Given the description of an element on the screen output the (x, y) to click on. 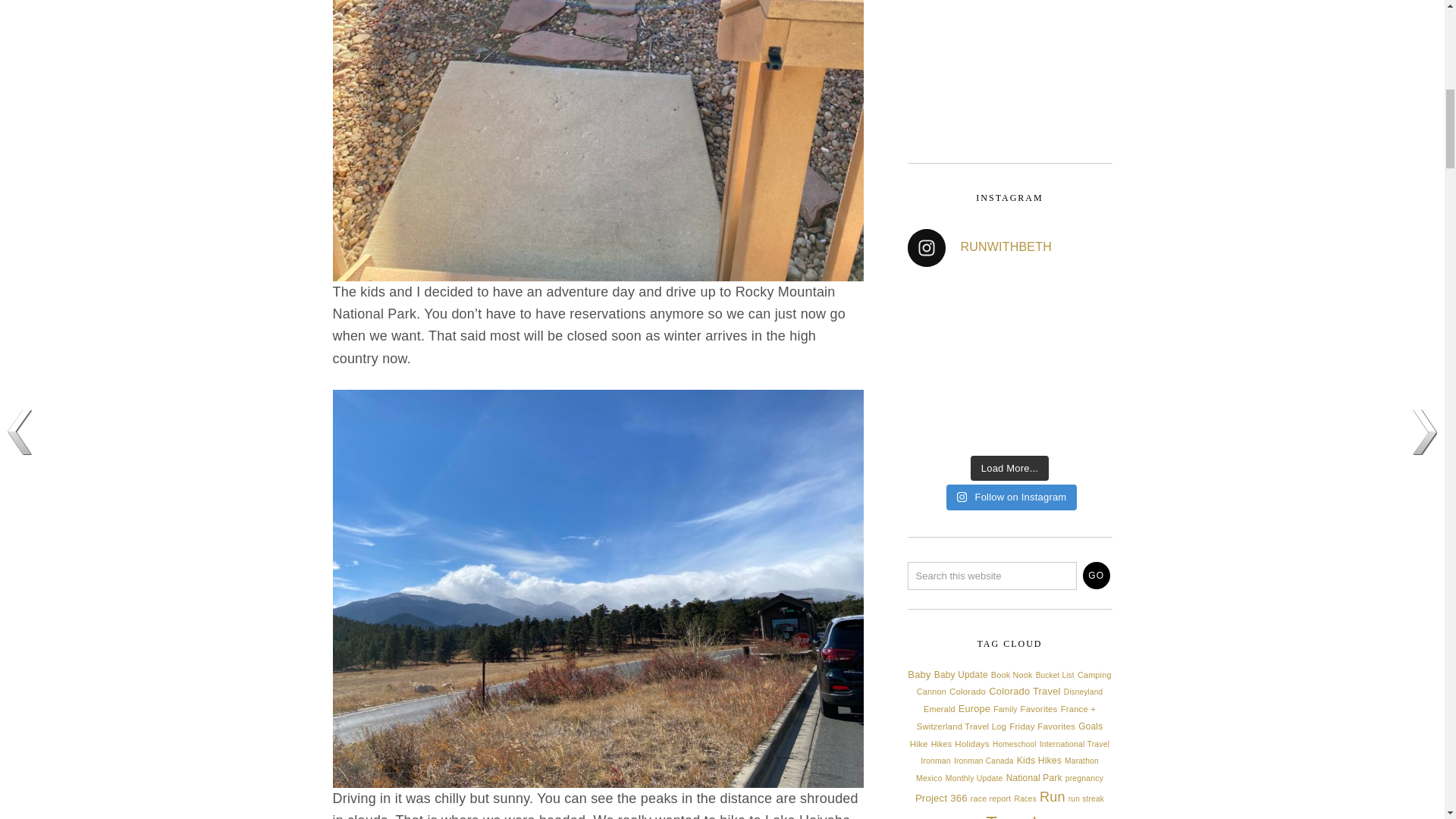
4 topics (1054, 674)
18 topics (918, 674)
GO (1096, 574)
8 topics (1094, 674)
13 topics (961, 674)
GO (1096, 574)
8 topics (931, 691)
8 topics (1011, 674)
RUNWITHBETH (1009, 247)
